Given the description of an element on the screen output the (x, y) to click on. 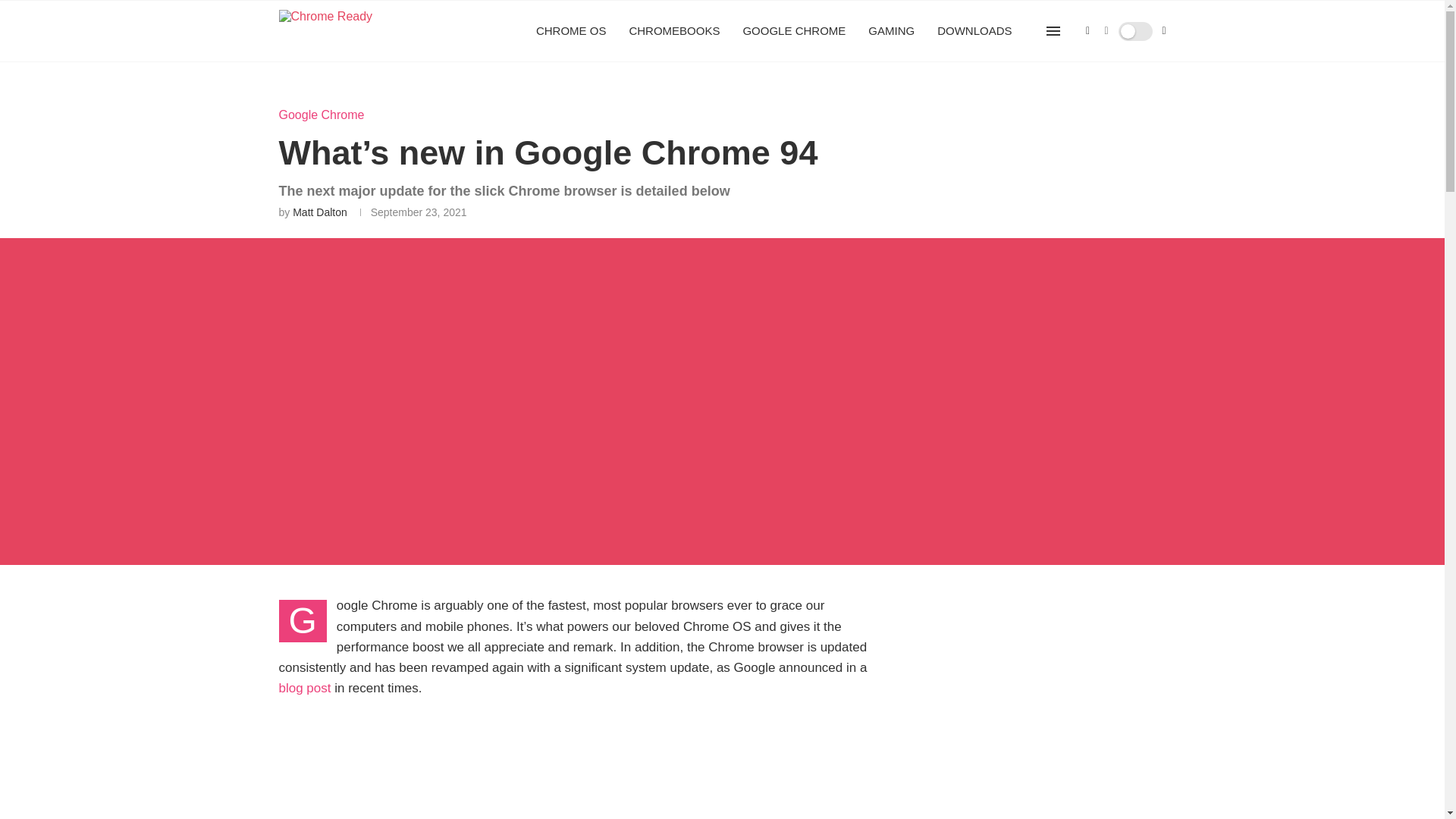
DOWNLOADS (974, 30)
CHROMEBOOKS (673, 30)
Matt Dalton (319, 212)
GOOGLE CHROME (793, 30)
CHROME OS (571, 30)
Google Chrome (322, 114)
blog post (305, 687)
Advertisement (574, 765)
Advertisement (1037, 726)
